Given the description of an element on the screen output the (x, y) to click on. 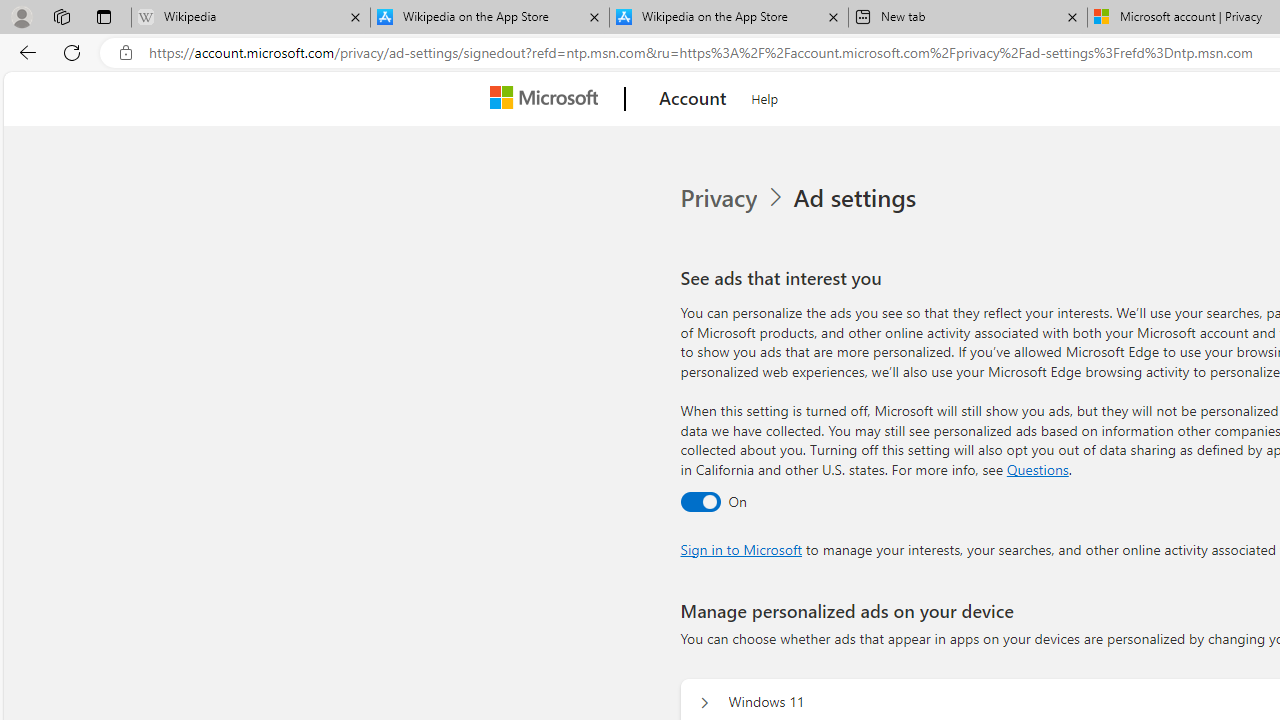
Microsoft (548, 99)
Sign in to Microsoft (740, 548)
Manage personalized ads on your device Windows 11 (704, 702)
Privacy (734, 197)
Wikipedia - Sleeping (250, 17)
Help (765, 96)
Account (692, 99)
